Given the description of an element on the screen output the (x, y) to click on. 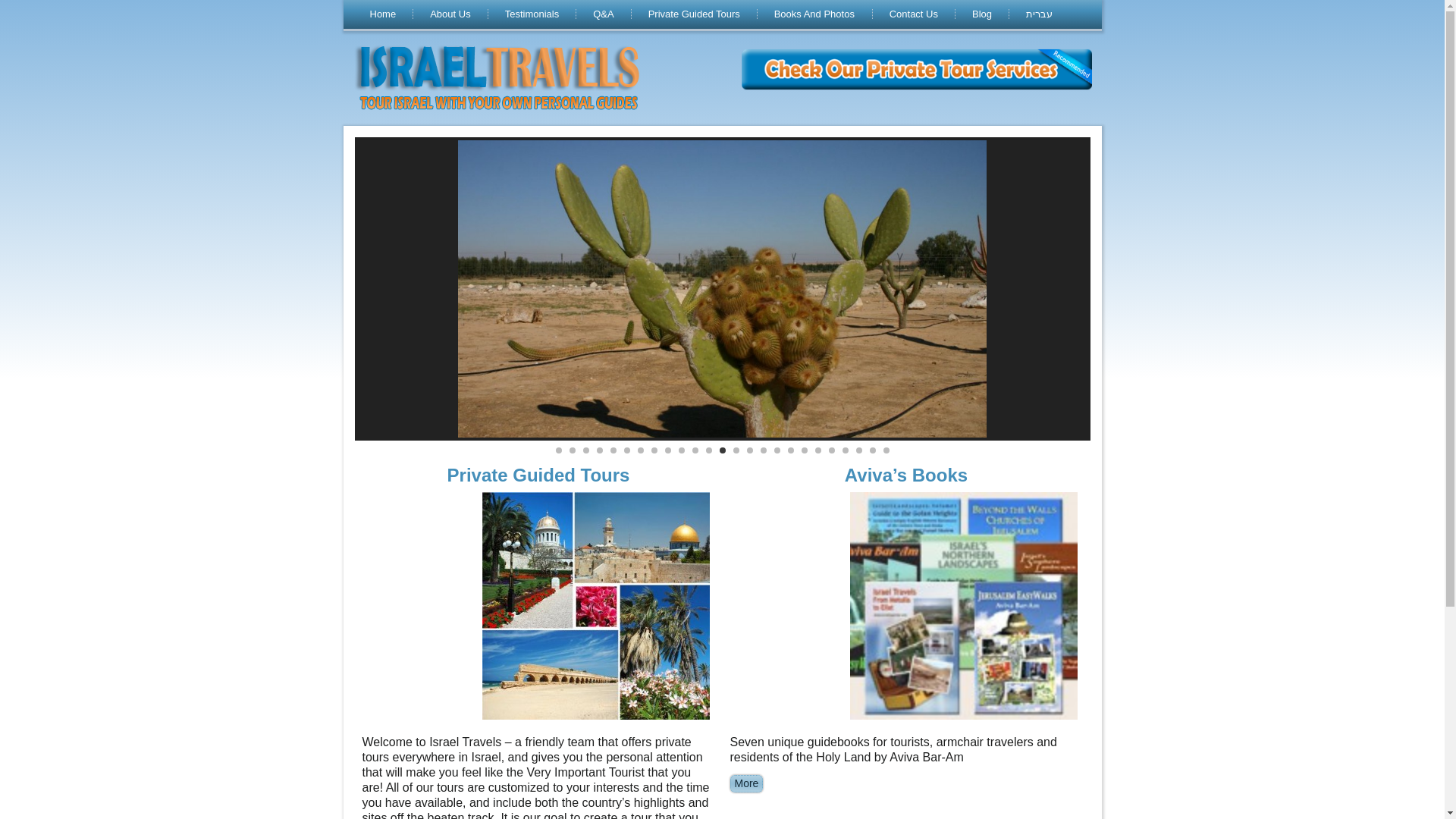
Home (383, 14)
About Us (449, 14)
Private Guided Tours (694, 14)
Blog (982, 14)
Private Guided Tours (694, 14)
Books And Photos (814, 14)
Testimonials (532, 14)
Private Guided Tours (538, 475)
Home (383, 14)
About Us (449, 14)
Testimonials (532, 14)
Contact Us (914, 14)
